Given the description of an element on the screen output the (x, y) to click on. 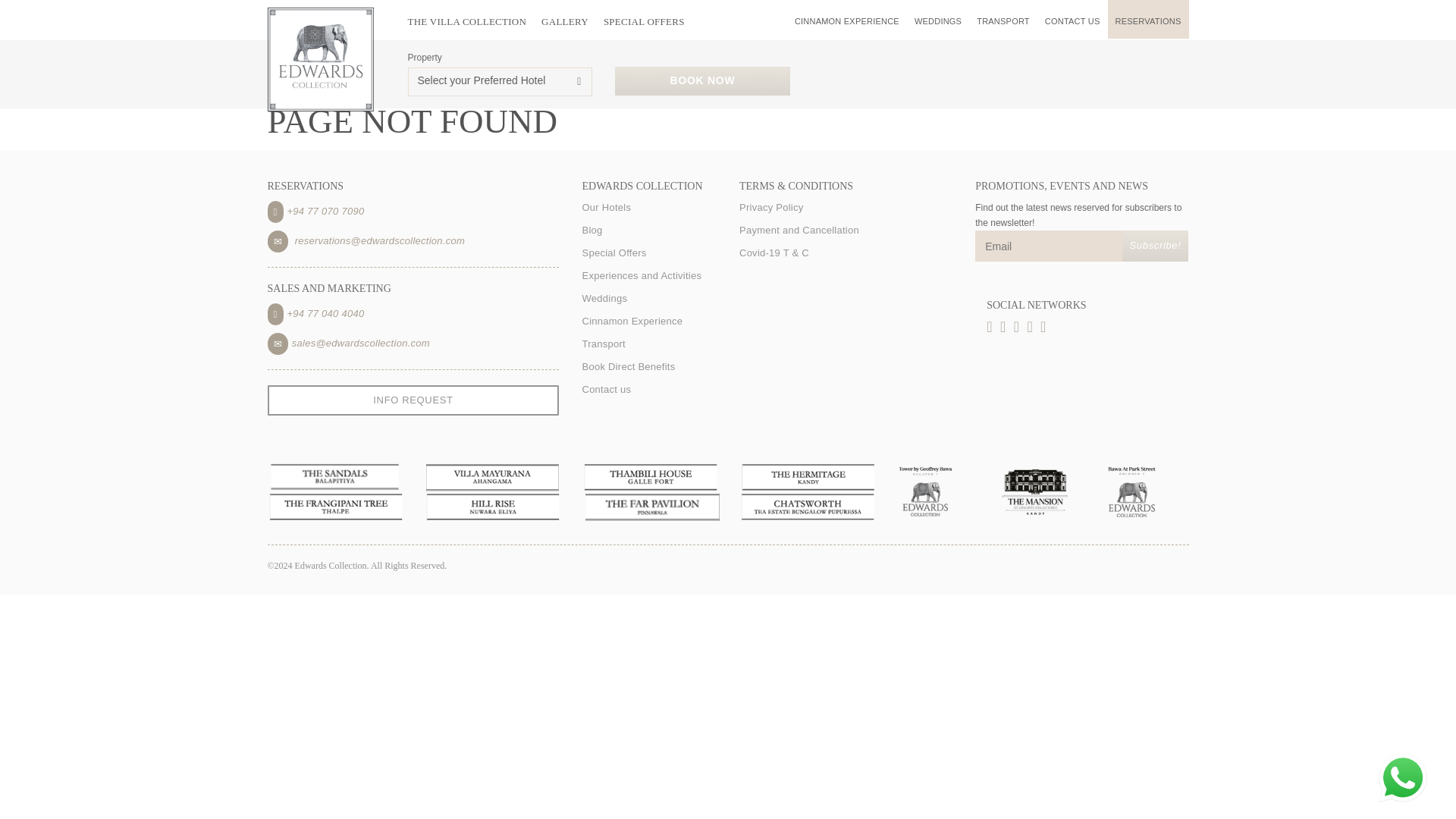
Transport (648, 344)
Blog (648, 230)
WEDDINGS (938, 18)
Our Hotels (648, 207)
Book Direct Benefits (648, 366)
Photo Gallery (564, 21)
Special Offers (644, 21)
Cinnamon Experience (648, 321)
CINNAMON EXPERIENCE (847, 18)
BOOK NOW (701, 80)
